Given the description of an element on the screen output the (x, y) to click on. 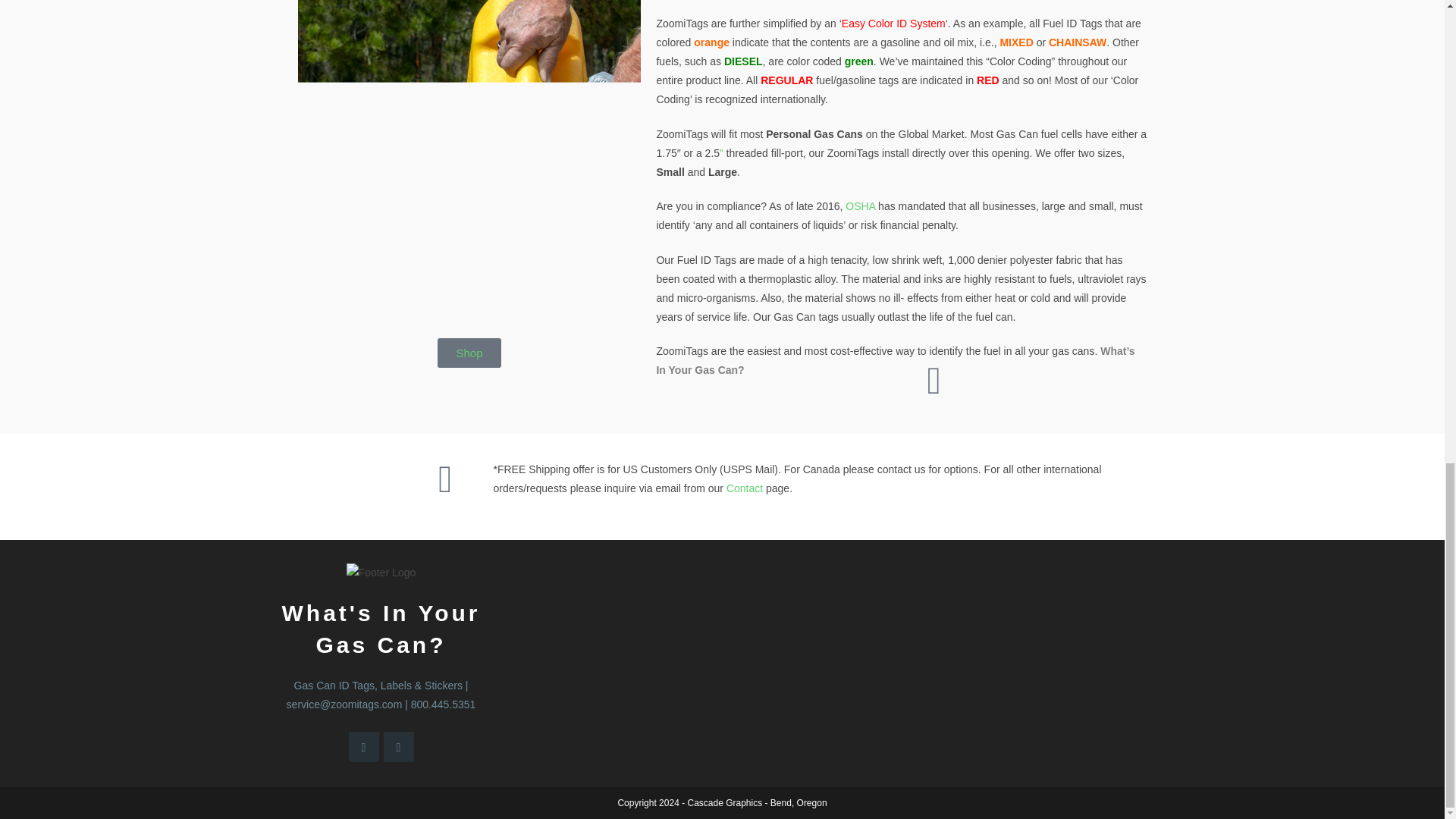
Shop (469, 352)
OSHA (860, 205)
MIXED (1015, 42)
Contact (744, 488)
